Given the description of an element on the screen output the (x, y) to click on. 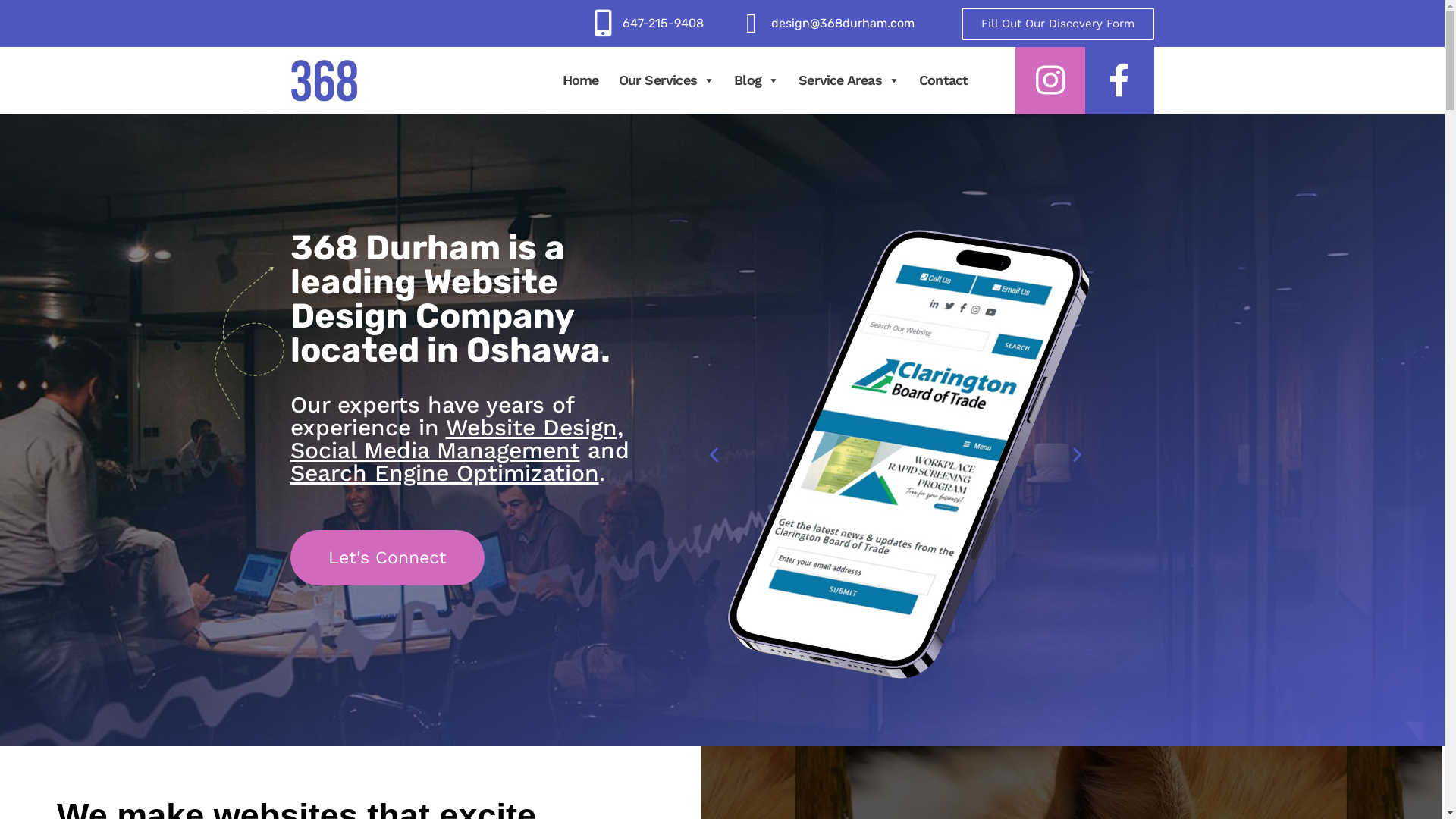
647-215-9408 Element type: text (662, 22)
Fill Out Our Discovery Form Element type: text (1057, 23)
Website Design Element type: text (531, 427)
Blog Element type: text (756, 80)
Let's Connect Element type: text (386, 557)
Home Element type: text (580, 80)
Contact Element type: text (943, 80)
design@368durham.com Element type: text (842, 22)
Social Media Management Element type: text (434, 449)
admin-ajax Element type: hover (248, 342)
Service Areas Element type: text (848, 80)
Our Services Element type: text (666, 80)
Search Engine Optimization Element type: text (443, 472)
logo241 Element type: hover (323, 80)
